Given the description of an element on the screen output the (x, y) to click on. 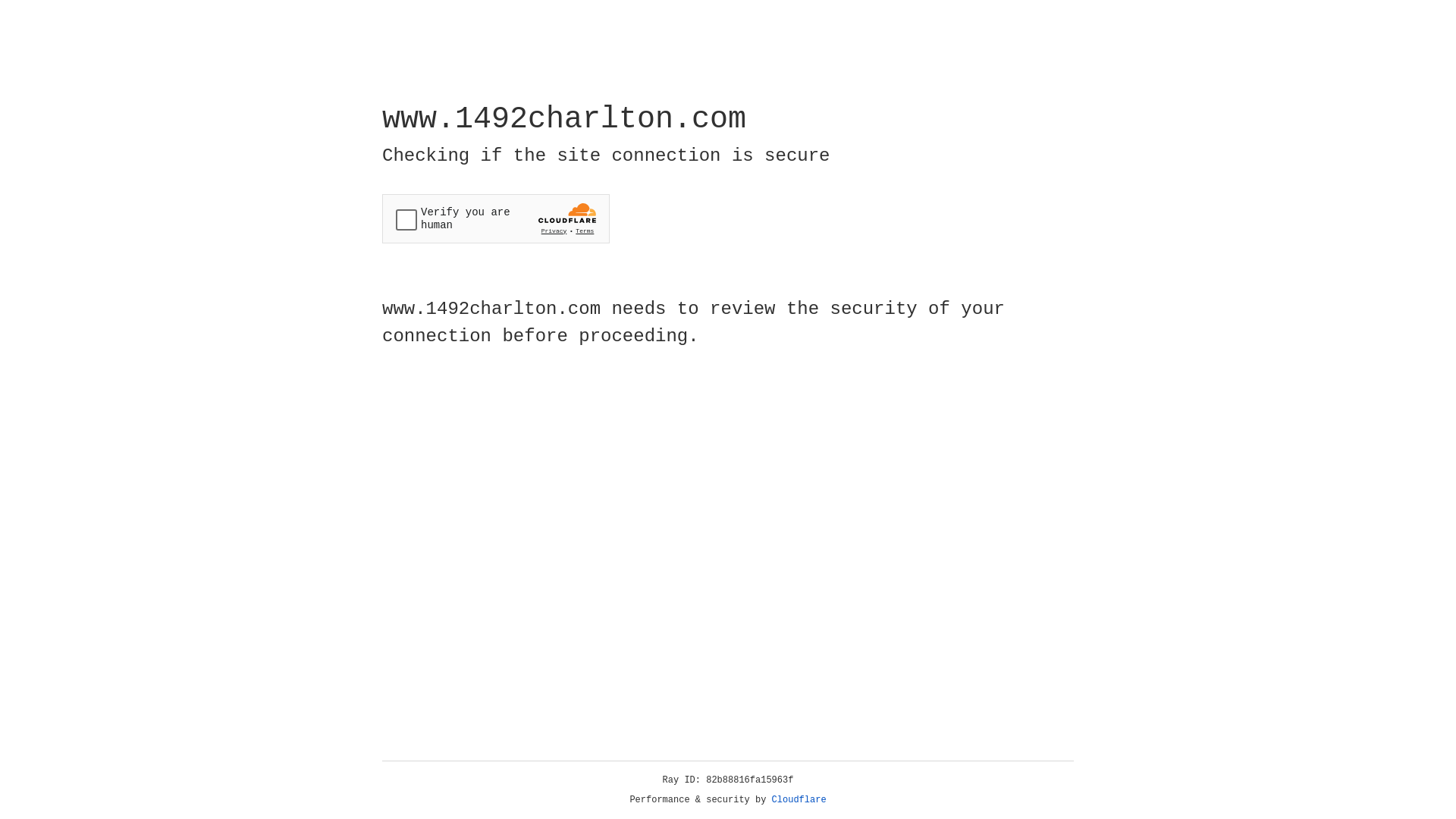
Cloudflare Element type: text (798, 799)
Widget containing a Cloudflare security challenge Element type: hover (495, 218)
